Given the description of an element on the screen output the (x, y) to click on. 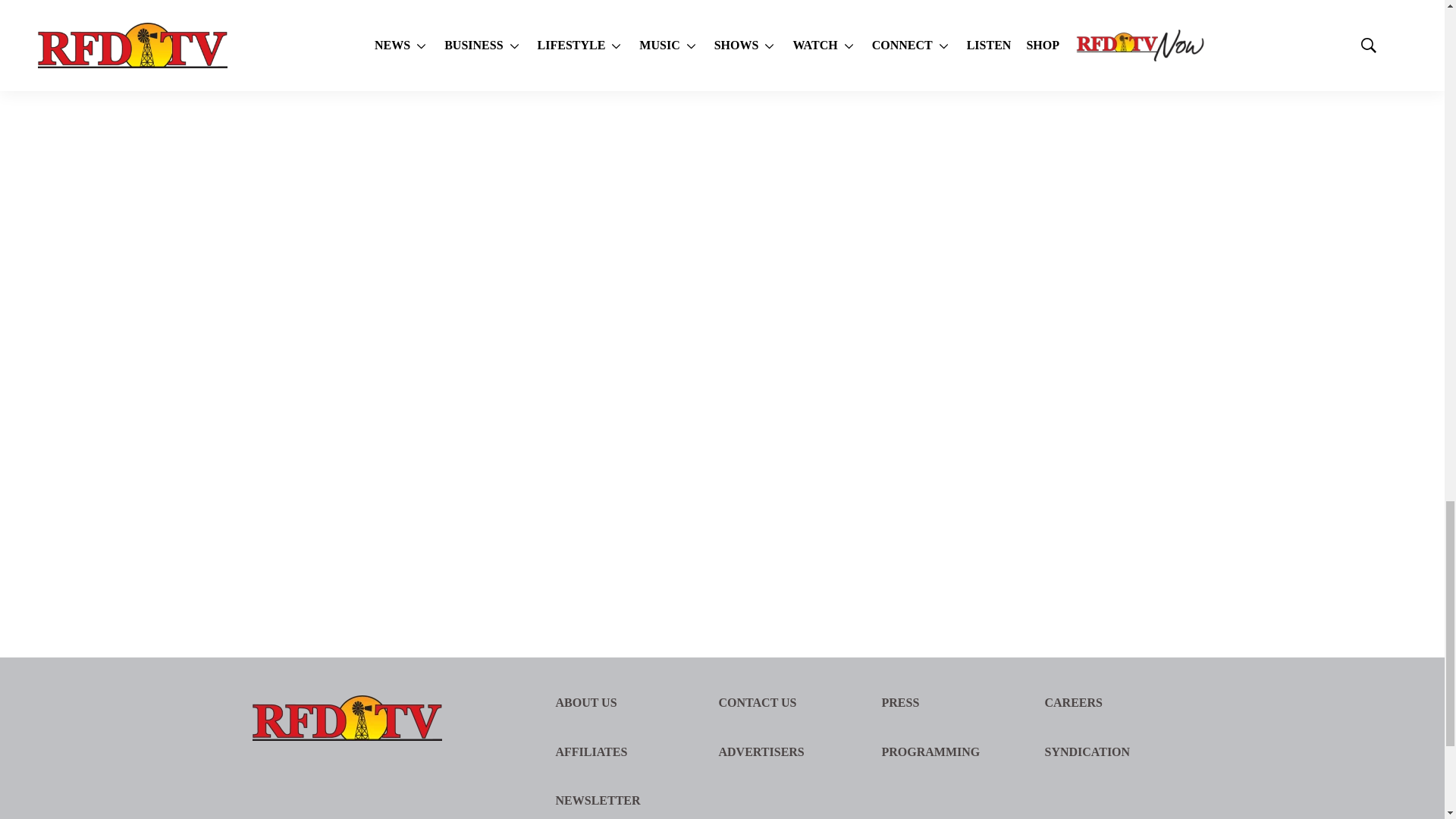
Signup Widget Embed (1070, 279)
